Given the description of an element on the screen output the (x, y) to click on. 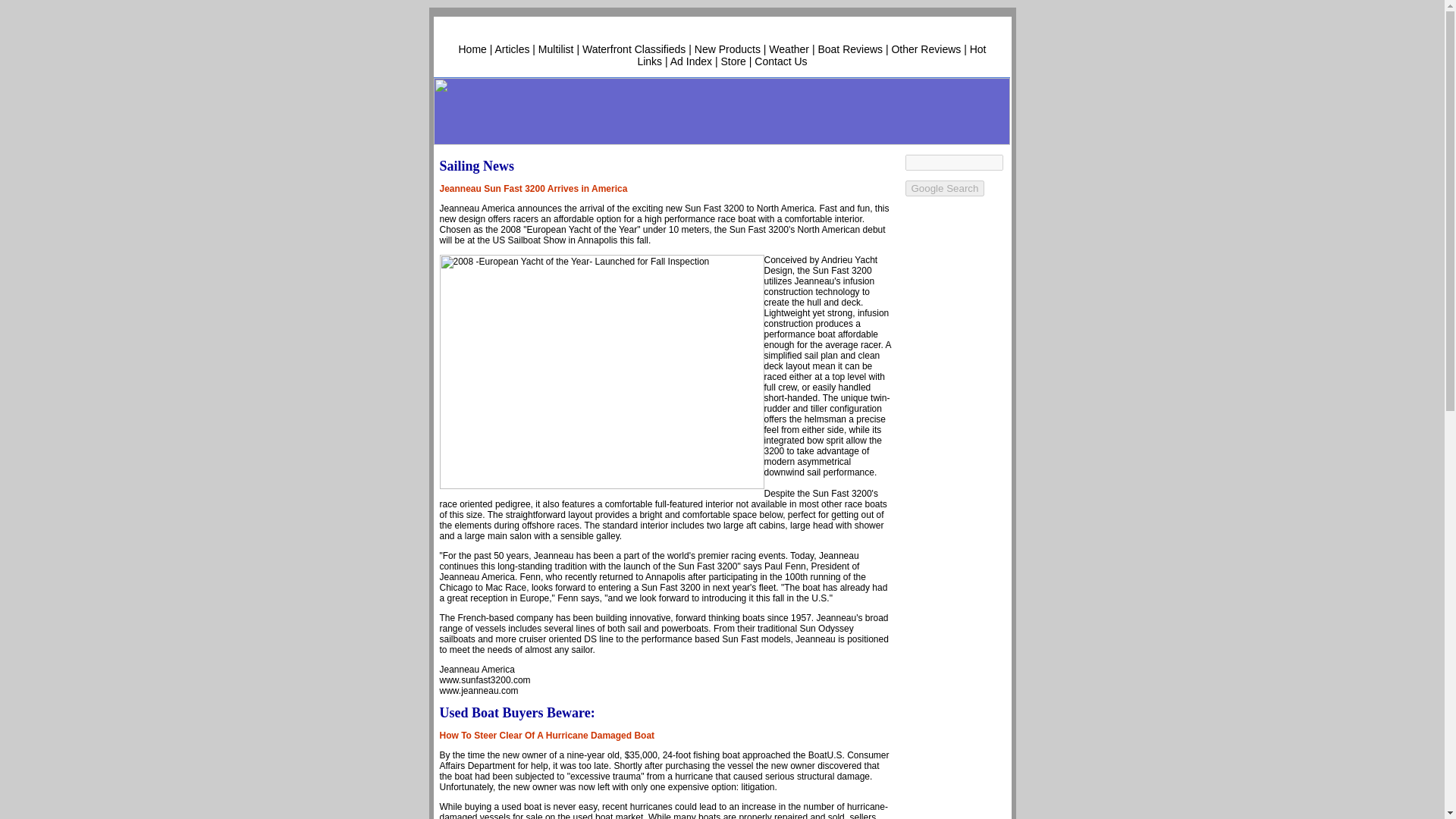
Ad Index (690, 61)
New Products (727, 49)
Contact Us (780, 61)
Google Search (945, 188)
Store (732, 61)
Waterfront Classifieds (633, 49)
Articles (512, 49)
Weather (788, 49)
Multilist (555, 49)
Articles (512, 49)
